Given the description of an element on the screen output the (x, y) to click on. 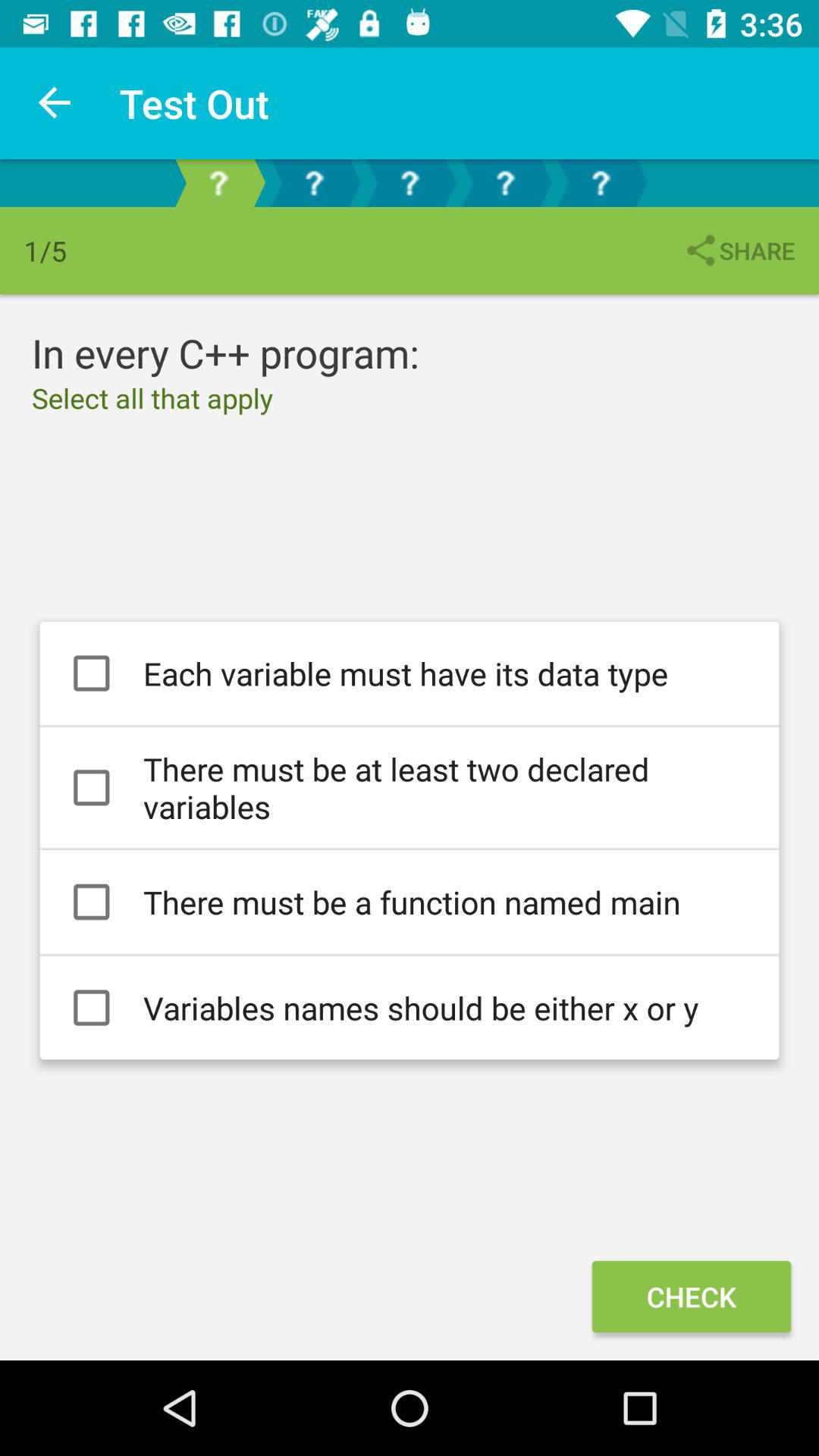
select share icon (738, 250)
